Given the description of an element on the screen output the (x, y) to click on. 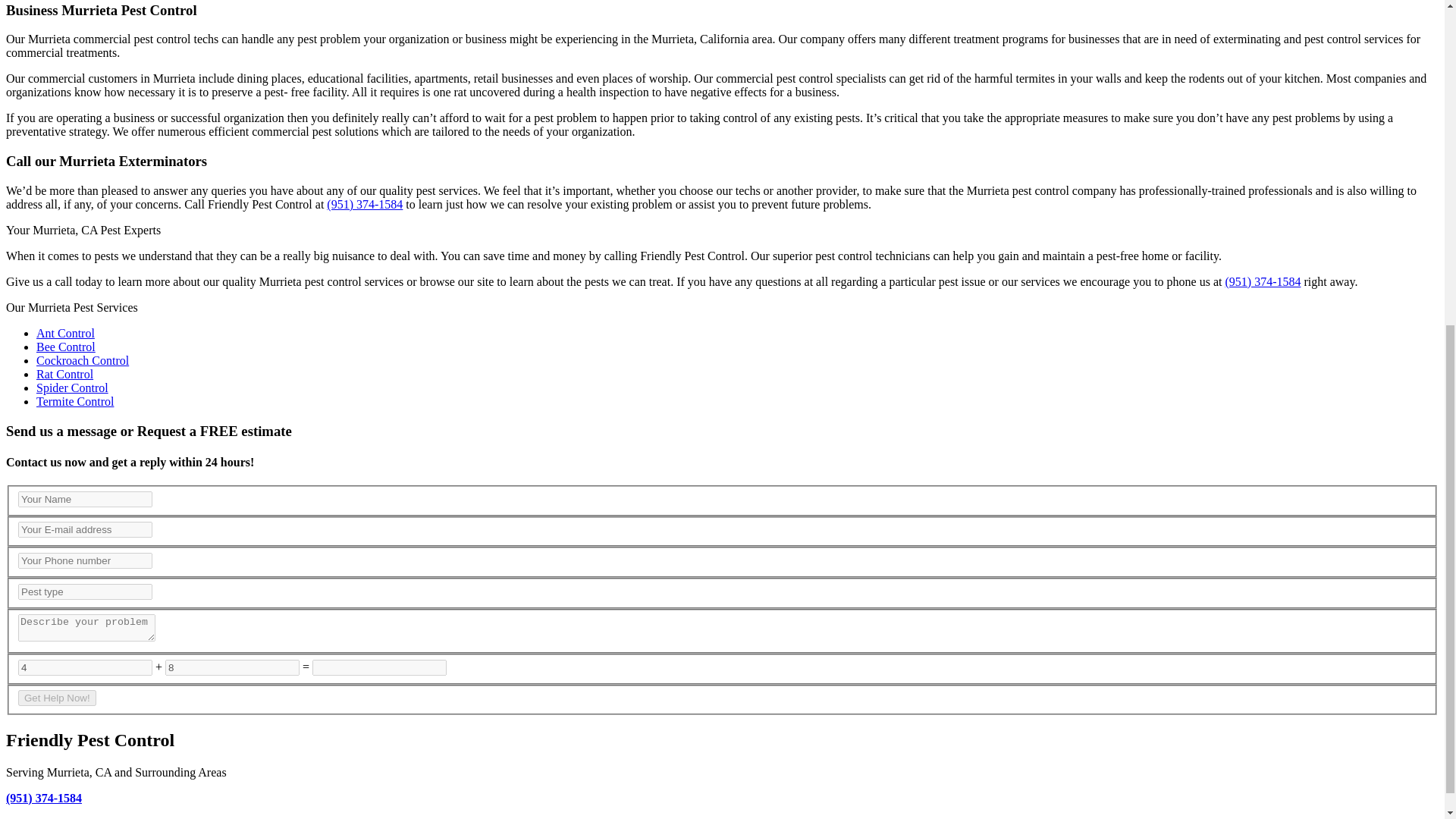
Spider Control (71, 387)
4 (84, 667)
Ant Control (65, 332)
Termite Control (74, 400)
Cockroach Control (82, 359)
8 (232, 667)
Get Help Now! (56, 697)
Bee Control (66, 346)
Rat Control (64, 373)
